Given the description of an element on the screen output the (x, y) to click on. 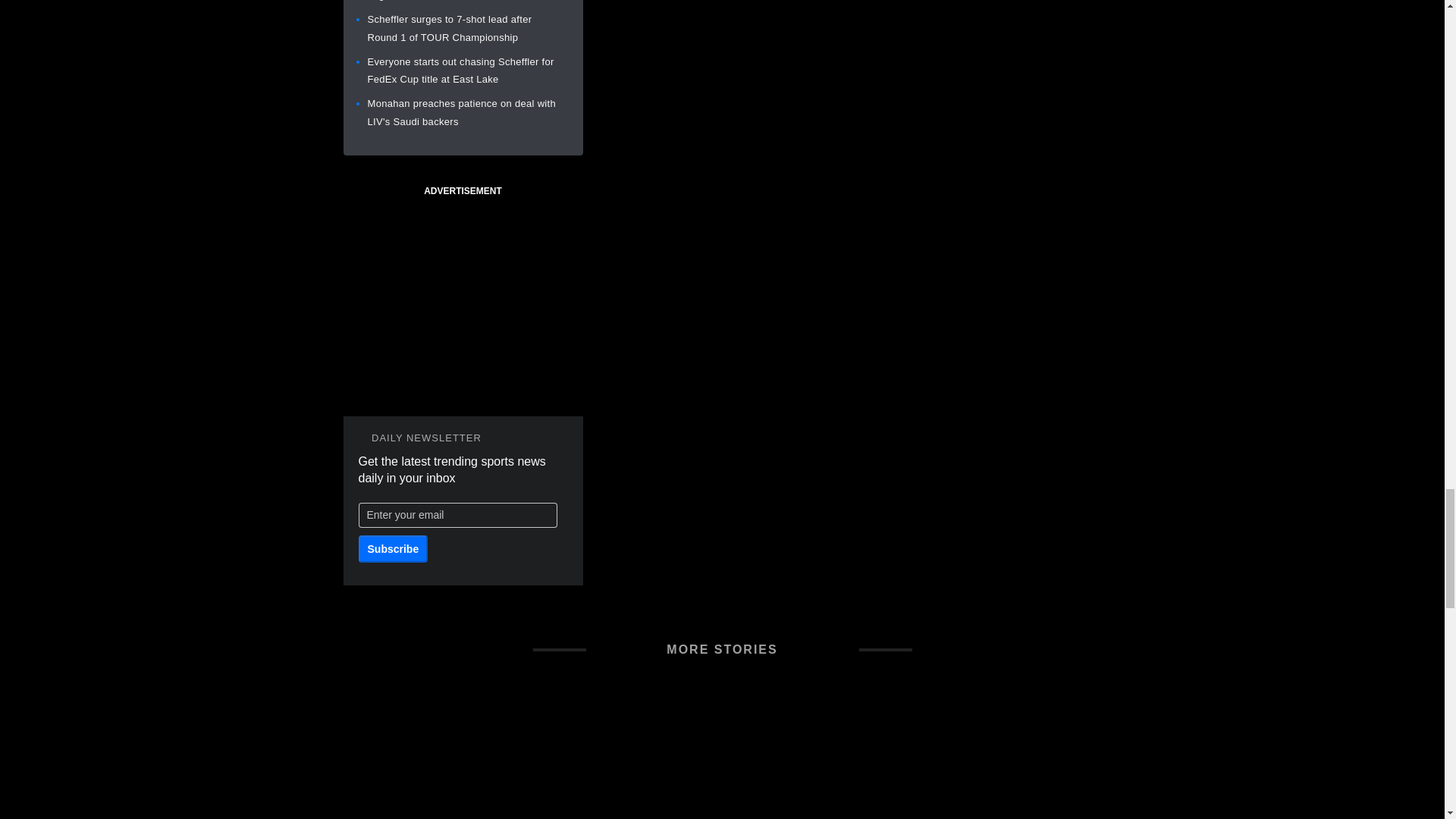
Monahan preaches patience on deal with LIV's Saudi backers (460, 112)
Scheffler: East Lake feels like new course after renovations (462, 753)
Subscribe (393, 548)
